Given the description of an element on the screen output the (x, y) to click on. 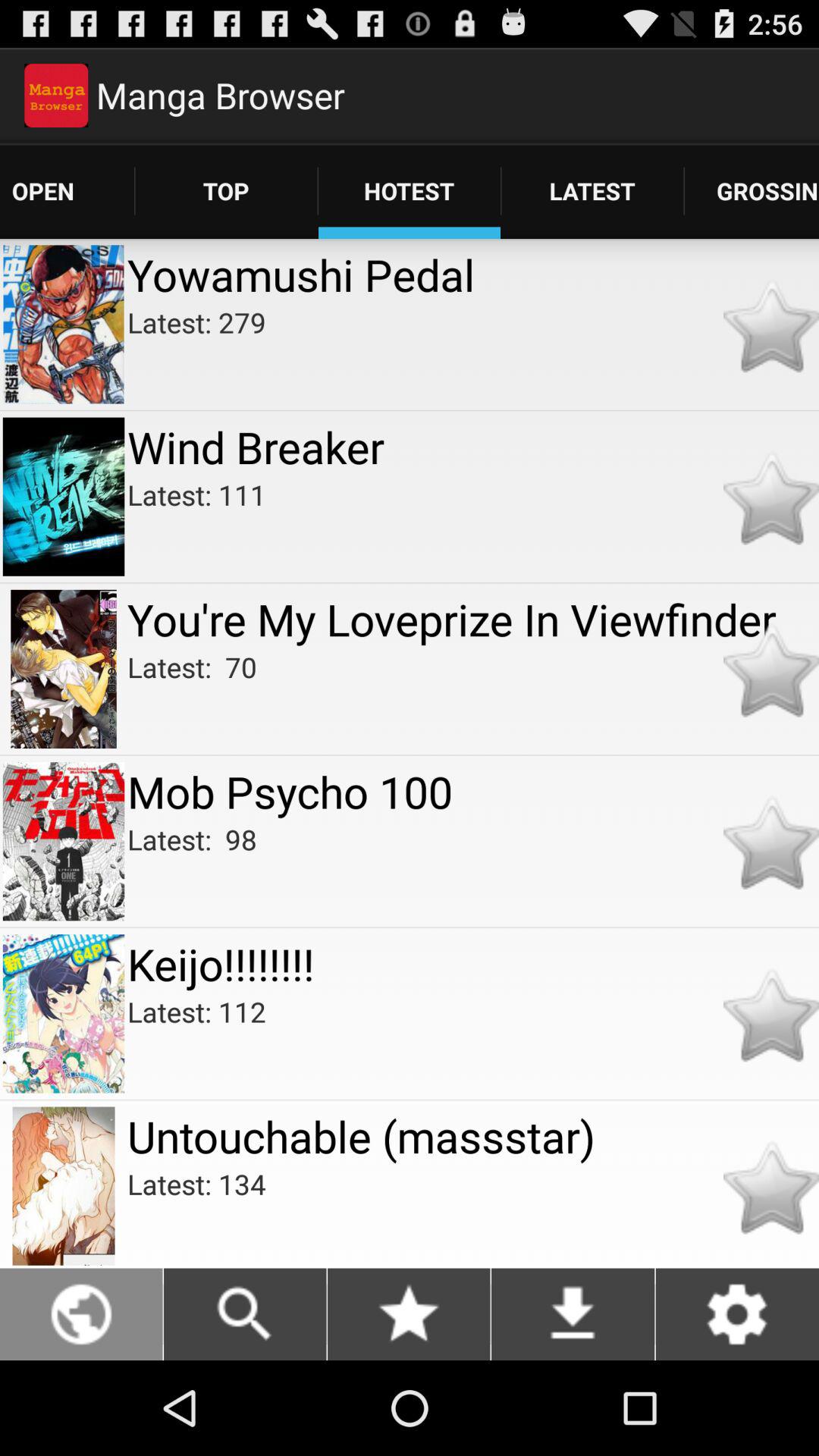
click on button which is at bottom right corner (737, 1314)
click globe icon (81, 1314)
select the text beside latest (751, 190)
